Given the description of an element on the screen output the (x, y) to click on. 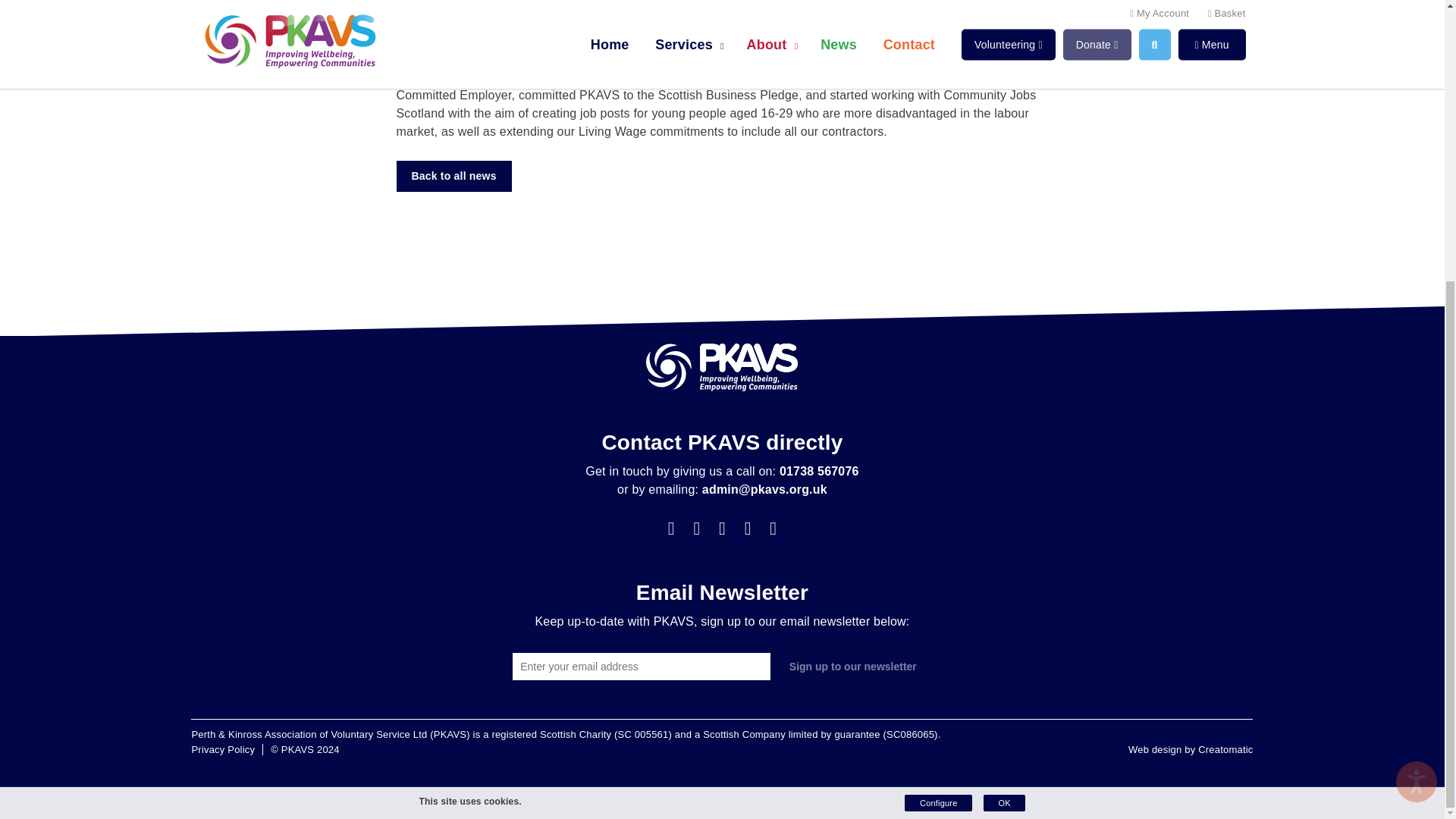
Listen with the ReachDeck Toolbar (1416, 360)
Sign up to our newsletter (852, 665)
